Given the description of an element on the screen output the (x, y) to click on. 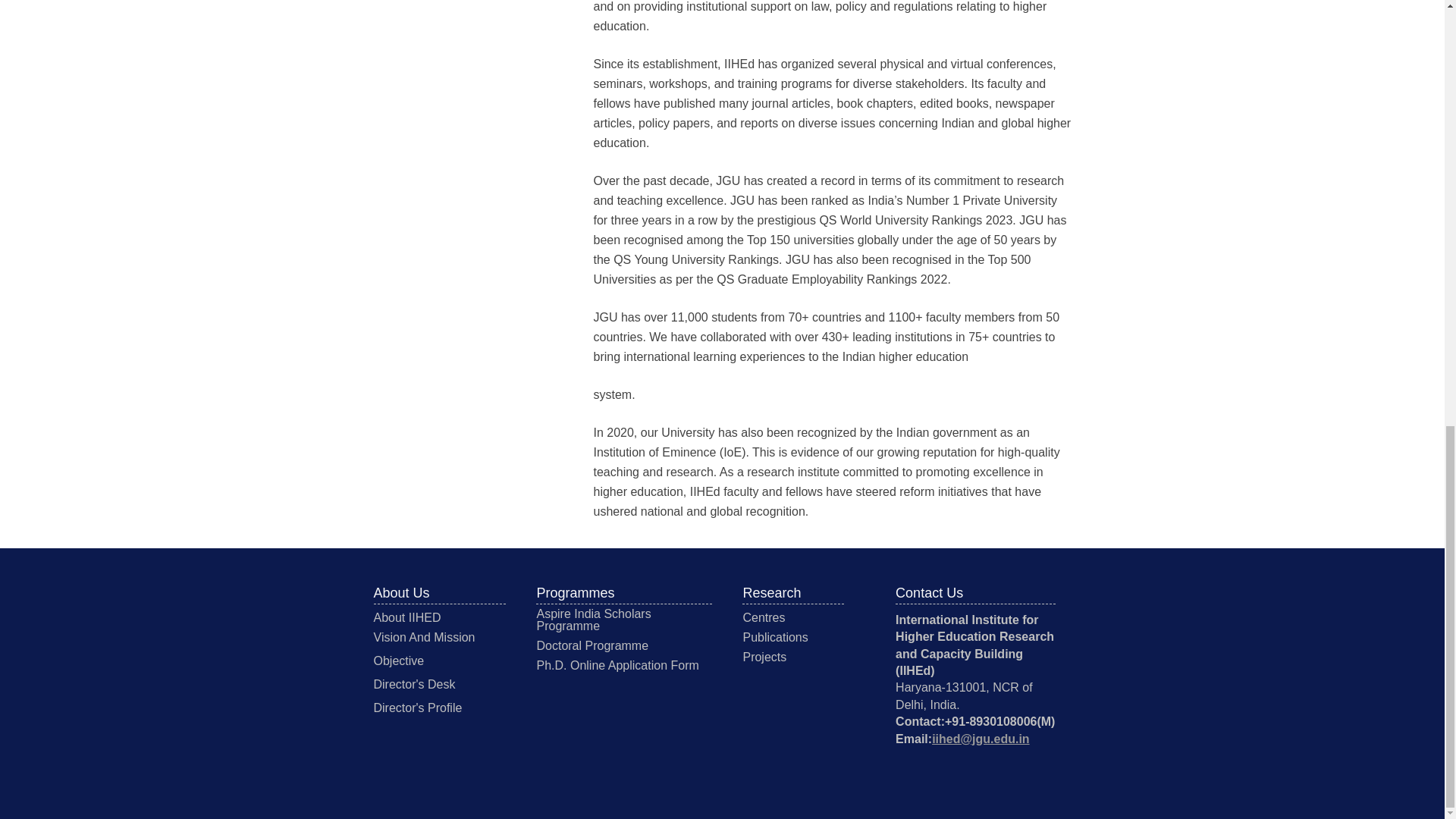
Director's Desk (413, 684)
About IIHED (406, 617)
Programmes (574, 592)
About Us (400, 592)
Director's Profile (416, 707)
Vision And Mission (423, 636)
Objective (397, 660)
Aspire India Scholars Programme (592, 619)
